Given the description of an element on the screen output the (x, y) to click on. 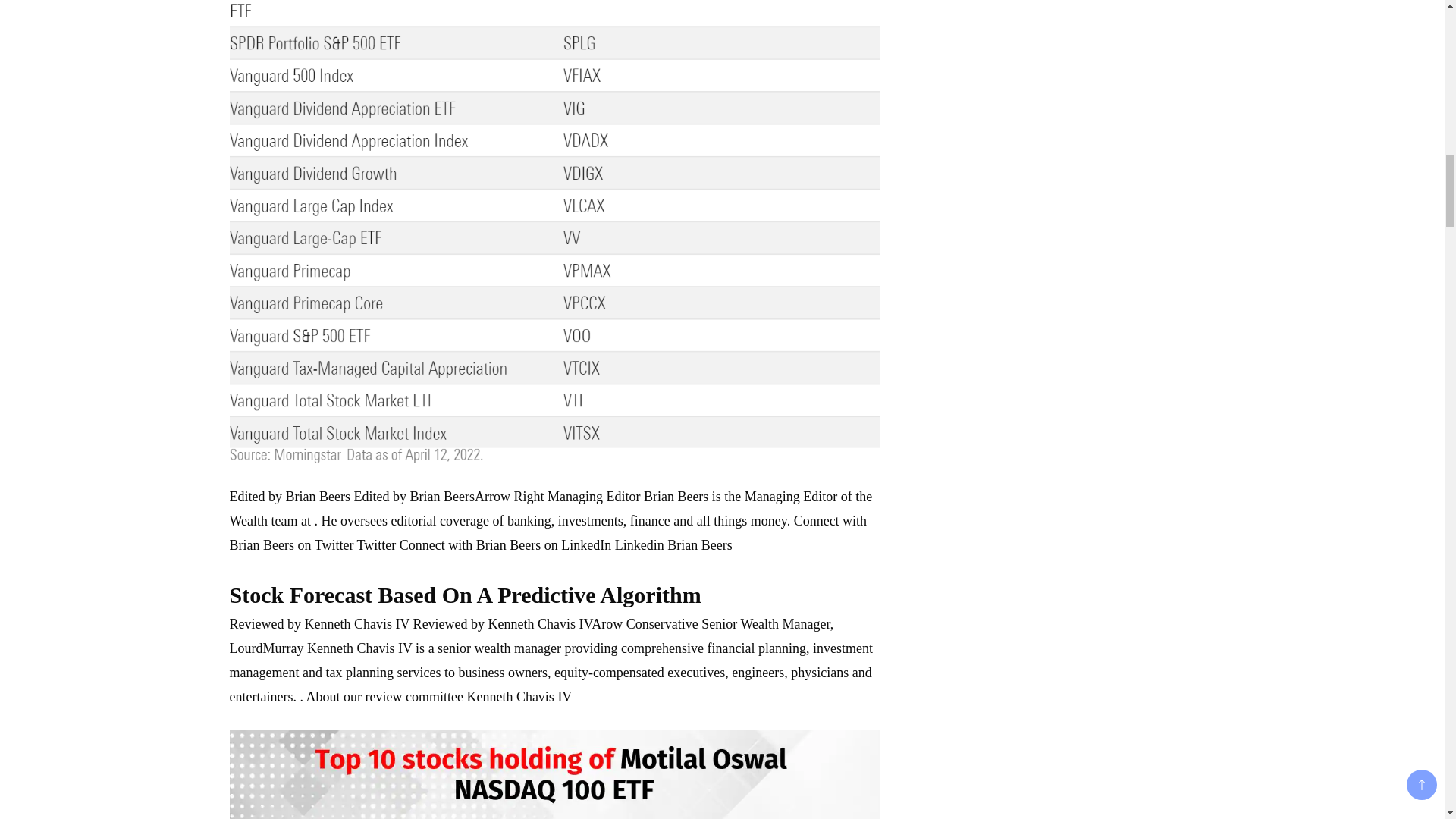
Best Etf To Invest In (553, 774)
